Given the description of an element on the screen output the (x, y) to click on. 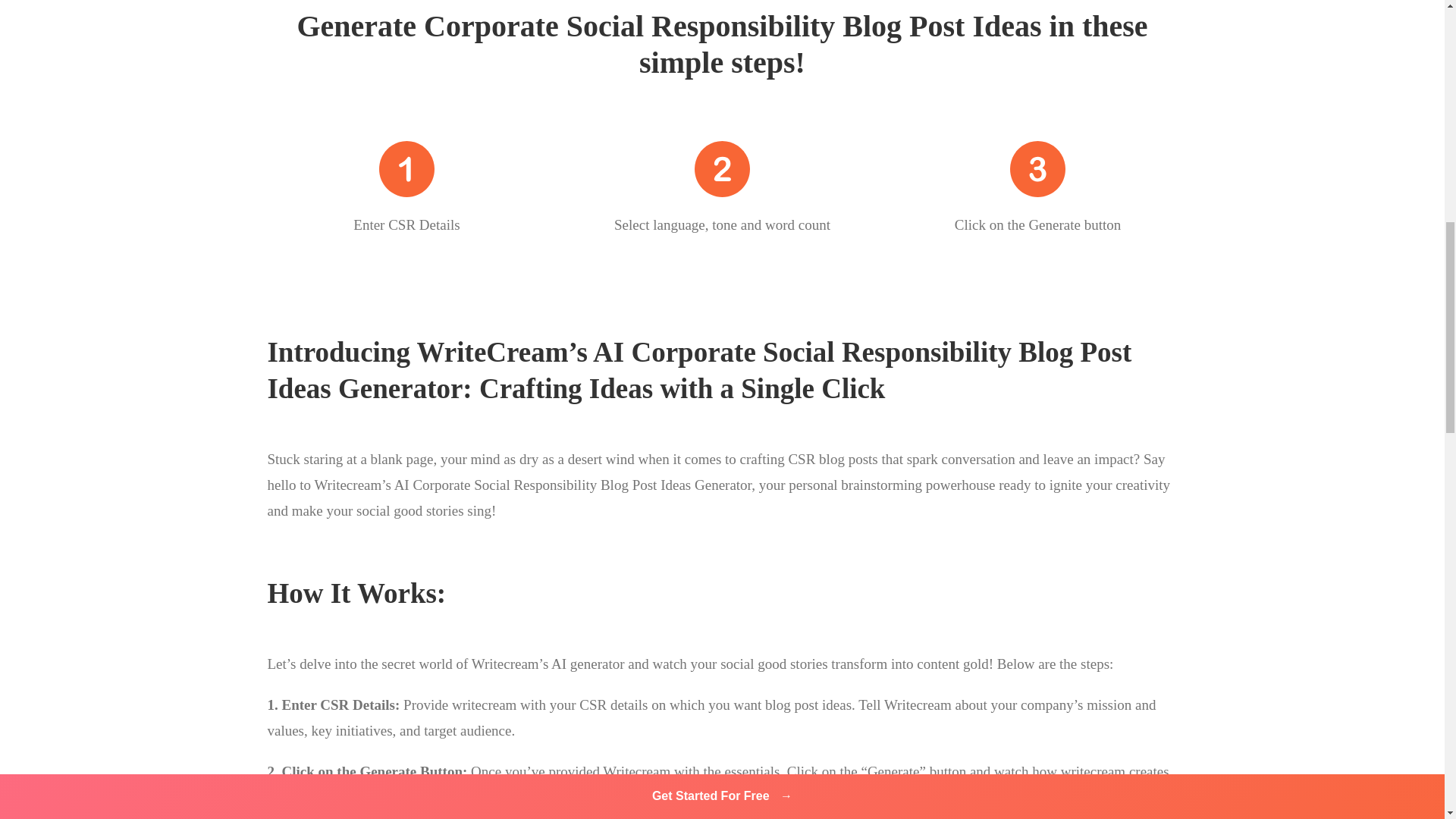
two-svgrepo-com (722, 168)
one-svgrepo-com (406, 168)
three-svgrepo-com (1037, 168)
